Given the description of an element on the screen output the (x, y) to click on. 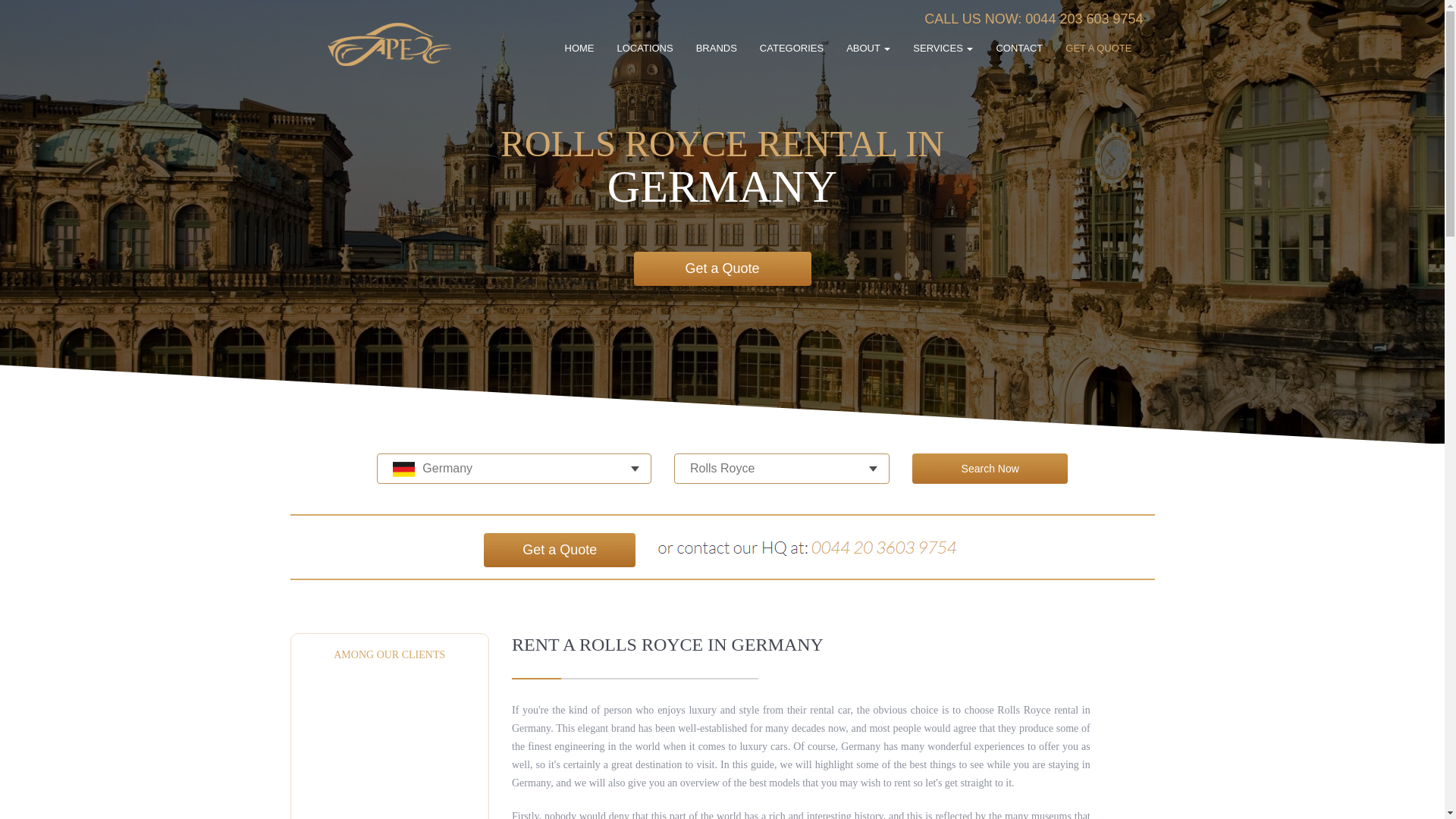
LOCATIONS (644, 48)
HOME (579, 48)
GET A QUOTE (1098, 48)
CONTACT (1018, 48)
SERVICES (942, 48)
ABOUT (867, 48)
CALL US NOW: 0044 203 603 9754 (1033, 18)
Get a Quote (721, 268)
Search Now (990, 468)
CATEGORIES (792, 48)
